Given the description of an element on the screen output the (x, y) to click on. 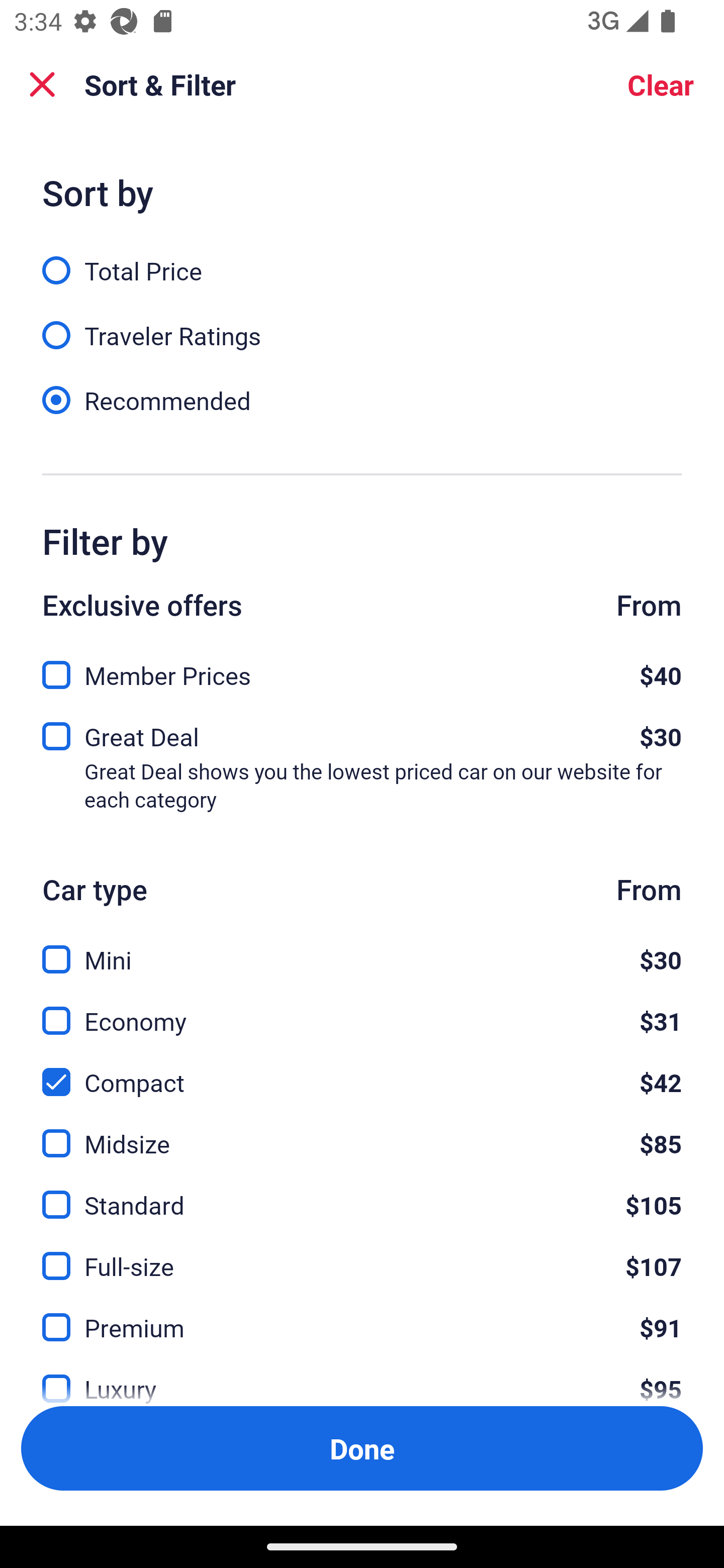
Close Sort and Filter (42, 84)
Clear (660, 84)
Total Price (361, 259)
Traveler Ratings (361, 324)
Member Prices, $40 Member Prices $40 (361, 669)
Mini, $30 Mini $30 (361, 947)
Economy, $31 Economy $31 (361, 1008)
Compact, $42 Compact $42 (361, 1070)
Midsize, $85 Midsize $85 (361, 1132)
Standard, $105 Standard $105 (361, 1193)
Full-size, $107 Full-size $107 (361, 1254)
Premium, $91 Premium $91 (361, 1315)
Luxury, $95 Luxury $95 (361, 1376)
Apply and close Sort and Filter Done (361, 1448)
